Given the description of an element on the screen output the (x, y) to click on. 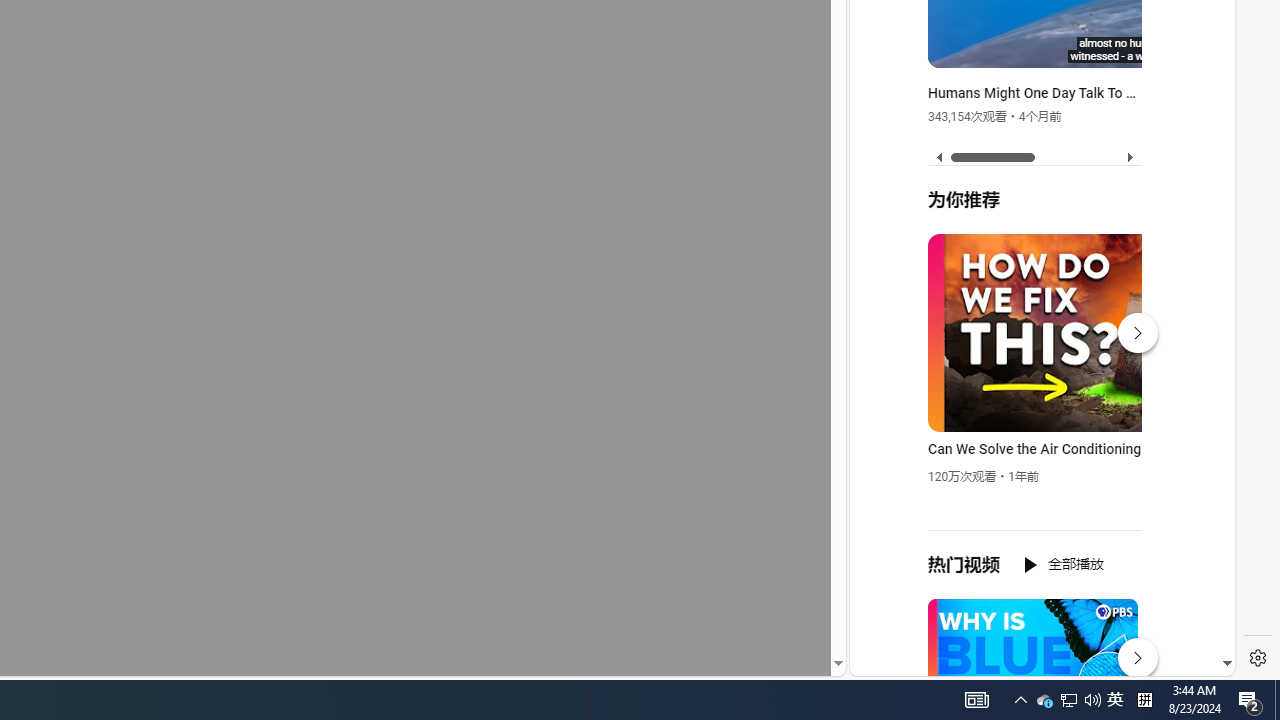
YouTube (1034, 432)
Click to scroll right (1196, 83)
US[ju] (917, 660)
Intro - What it's like to be a whale (1160, 49)
